Given the description of an element on the screen output the (x, y) to click on. 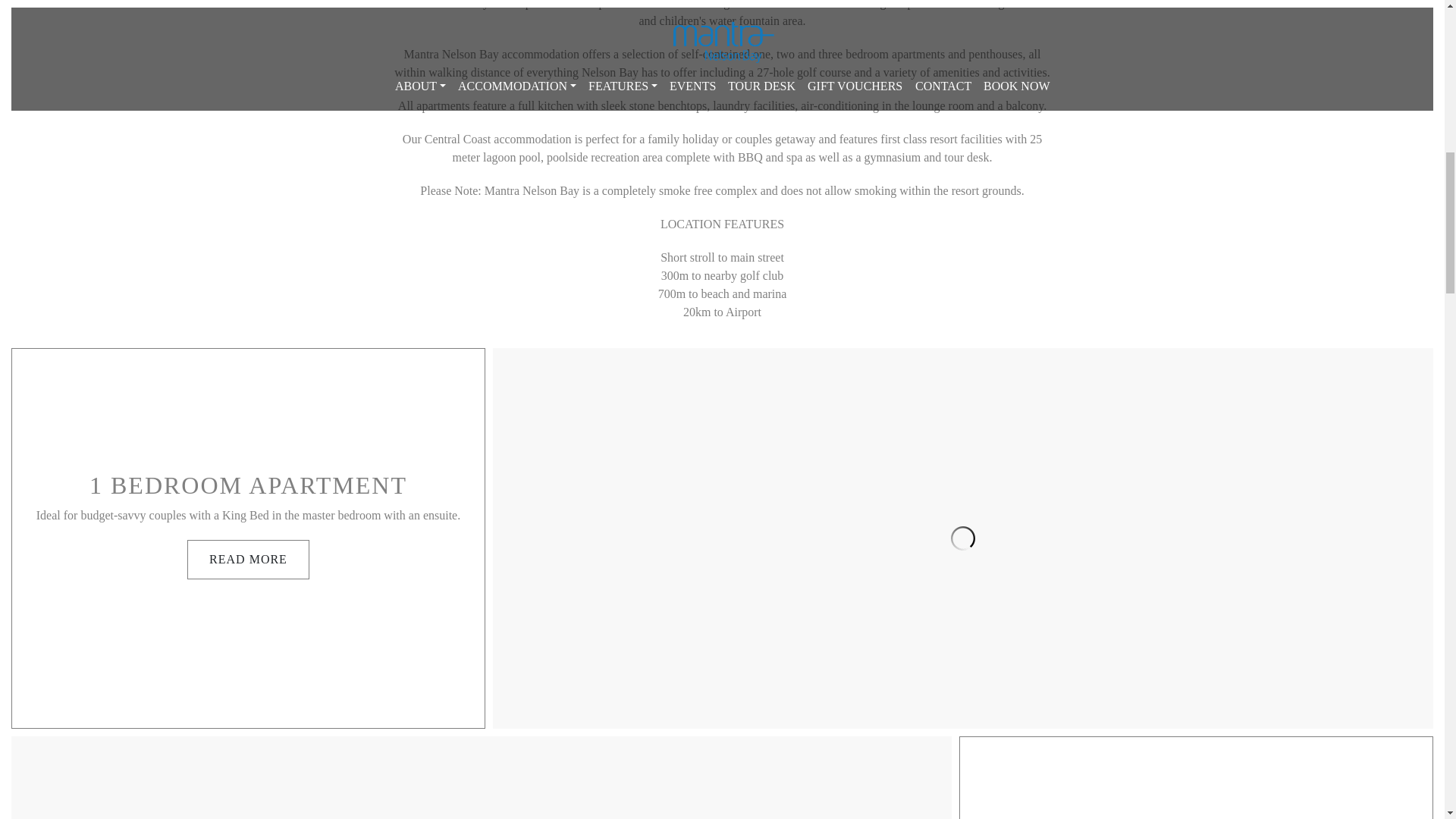
READ MORE (247, 559)
